Given the description of an element on the screen output the (x, y) to click on. 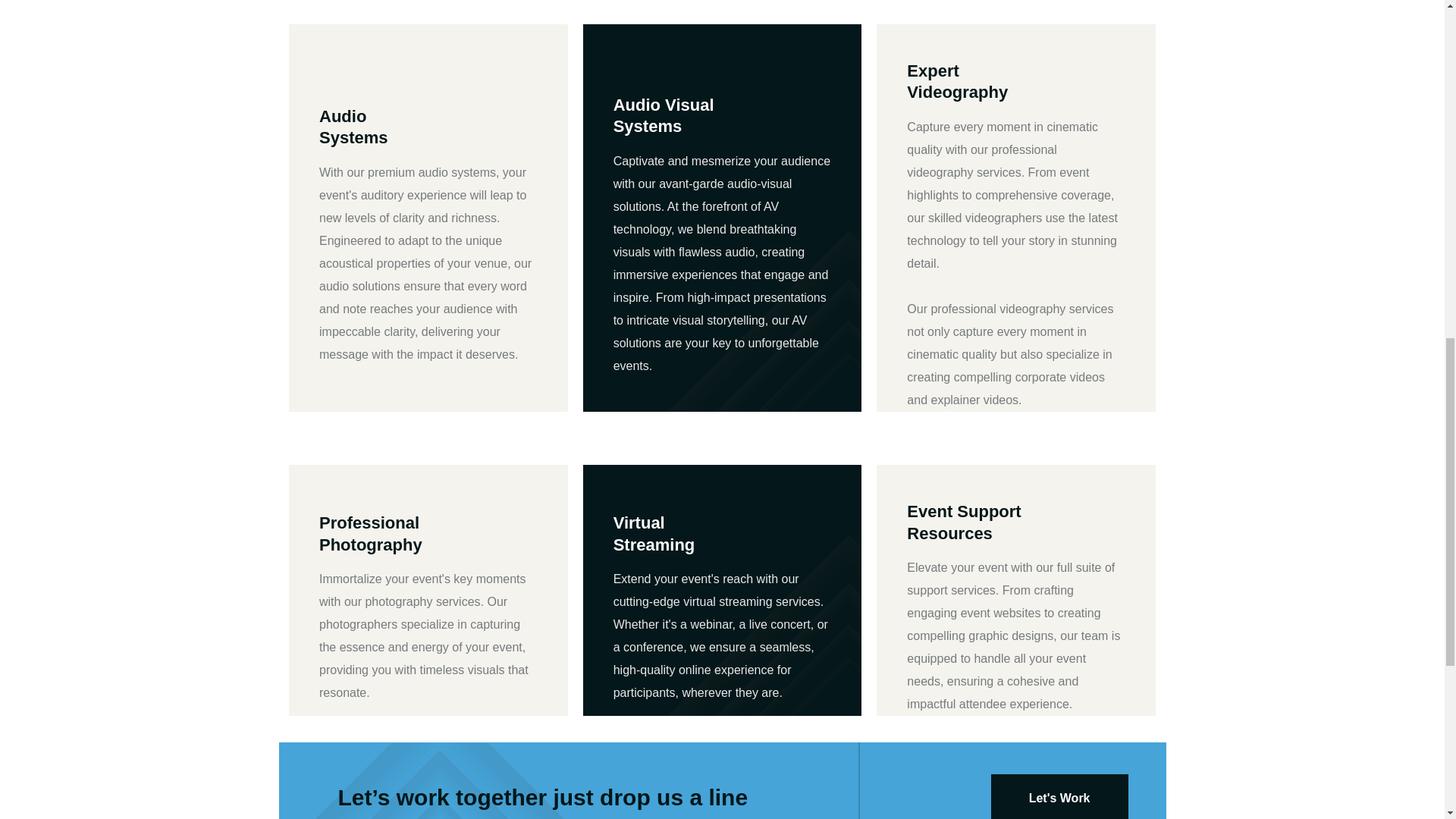
Let's Work (1059, 796)
